Given the description of an element on the screen output the (x, y) to click on. 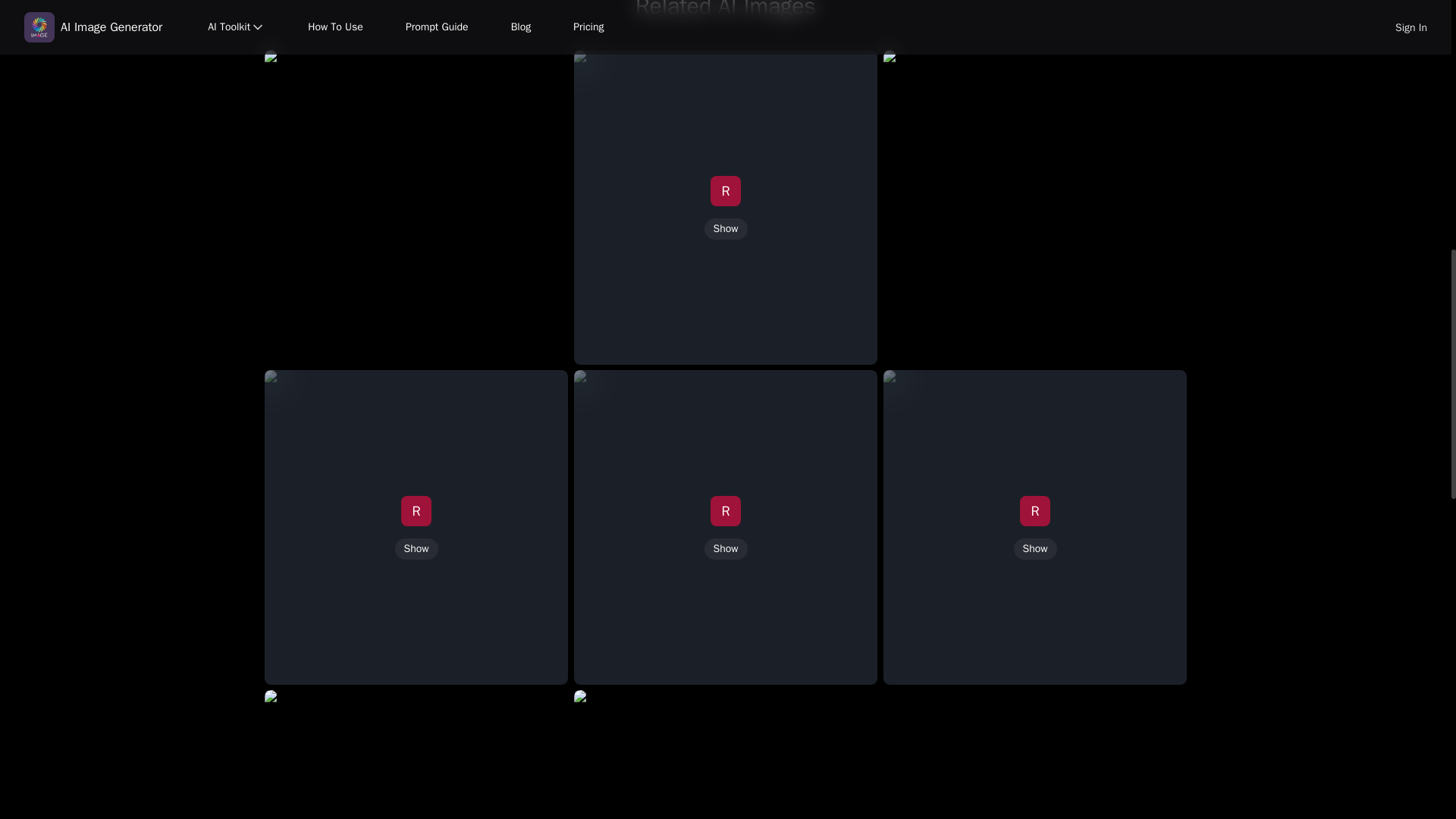
Show (416, 548)
Show (1035, 548)
Show (724, 548)
Show (724, 228)
